Given the description of an element on the screen output the (x, y) to click on. 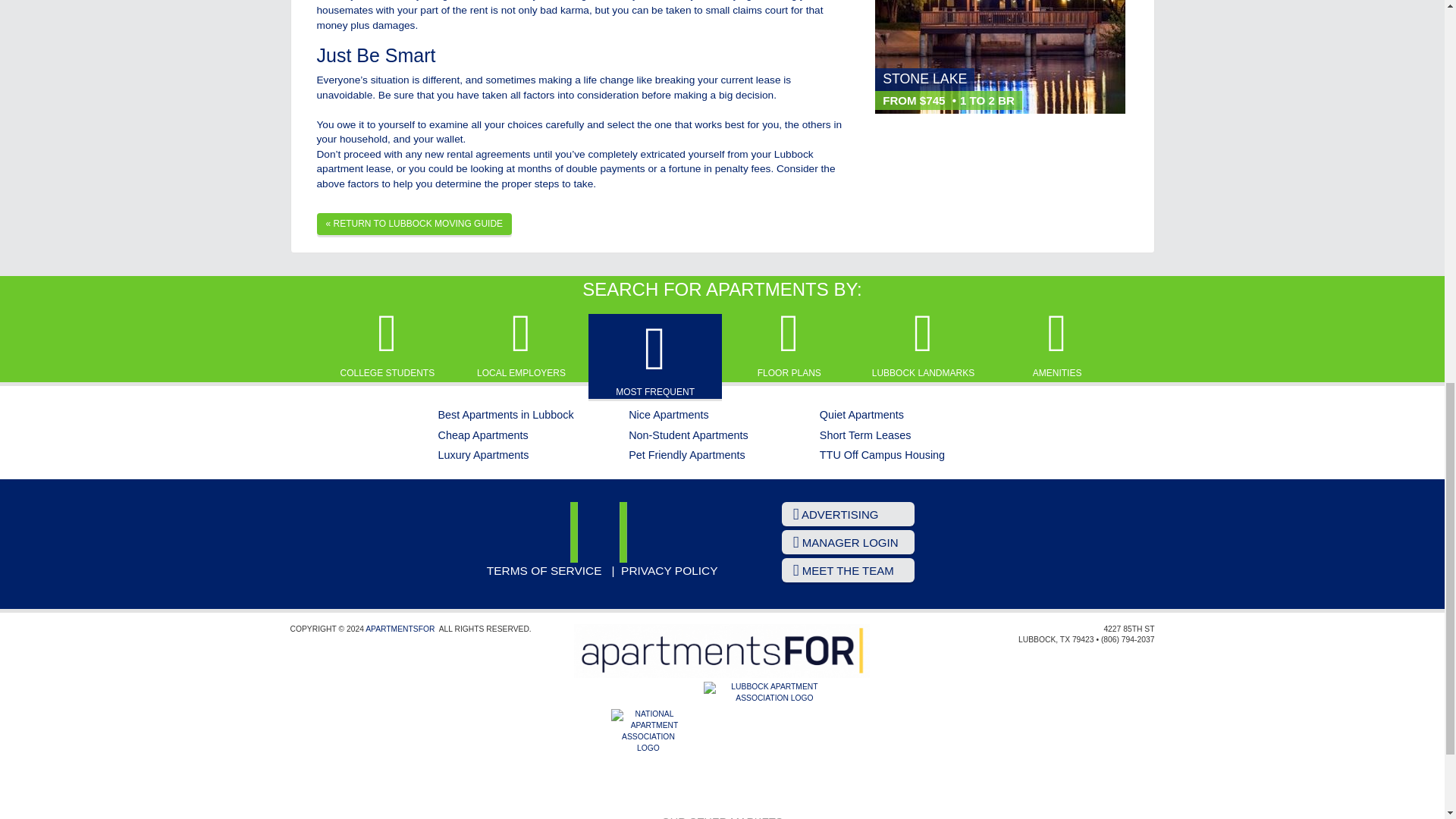
Pet Friendly Apartments (686, 454)
FLOOR PLANS (789, 343)
Quiet Apartments (861, 414)
COLLEGE STUDENTS (386, 343)
Best Apartments in Lubbock (505, 414)
MOST FREQUENT (655, 357)
LOCAL EMPLOYERS (521, 343)
ApartmentsFor.com (399, 628)
Terms of Service (544, 570)
Short Term Leases (865, 435)
National Apartment Association (647, 745)
A Local ApartmentsFor Brand (721, 651)
Lubbock, TX Apartments (601, 532)
AMENITIES (1056, 343)
LUBBOCK LANDMARKS (923, 343)
